Given the description of an element on the screen output the (x, y) to click on. 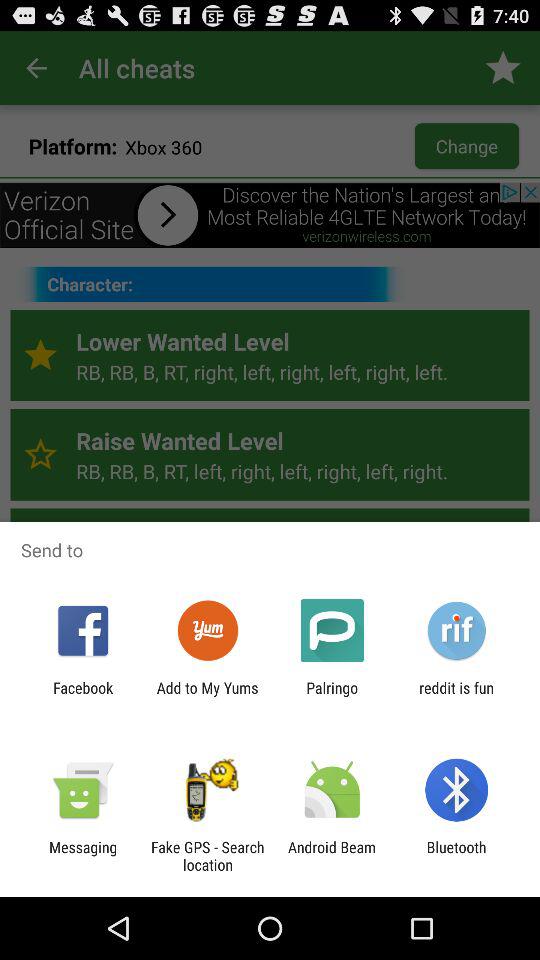
swipe to the bluetooth app (456, 856)
